Given the description of an element on the screen output the (x, y) to click on. 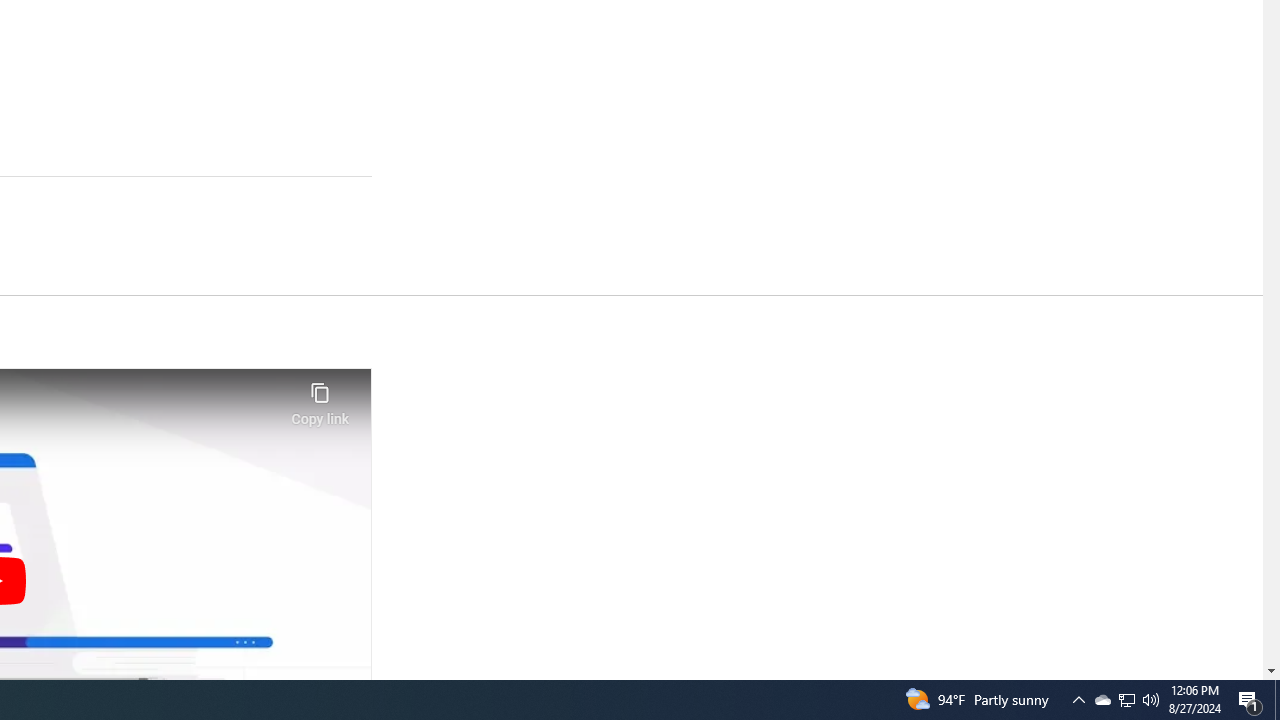
Copy link (319, 398)
